Given the description of an element on the screen output the (x, y) to click on. 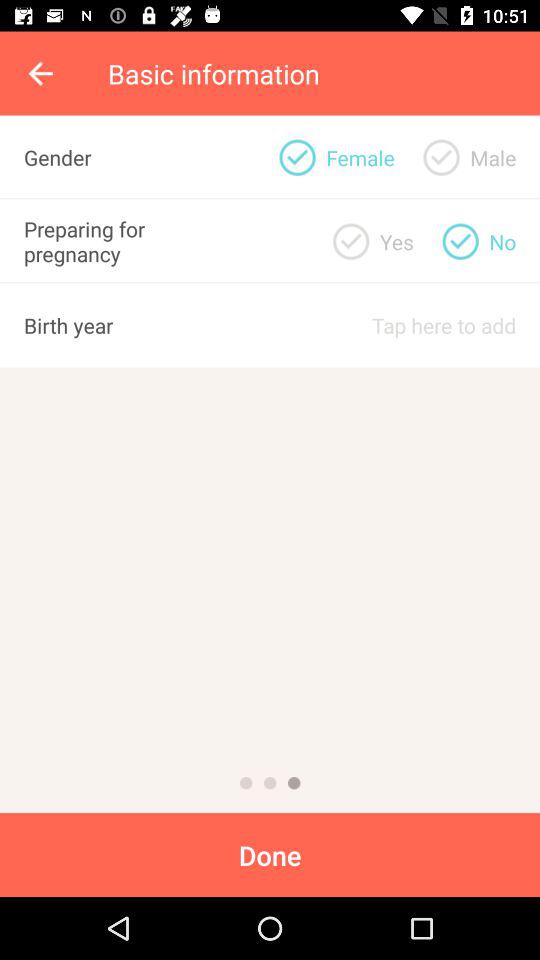
select female gender (297, 157)
